Given the description of an element on the screen output the (x, y) to click on. 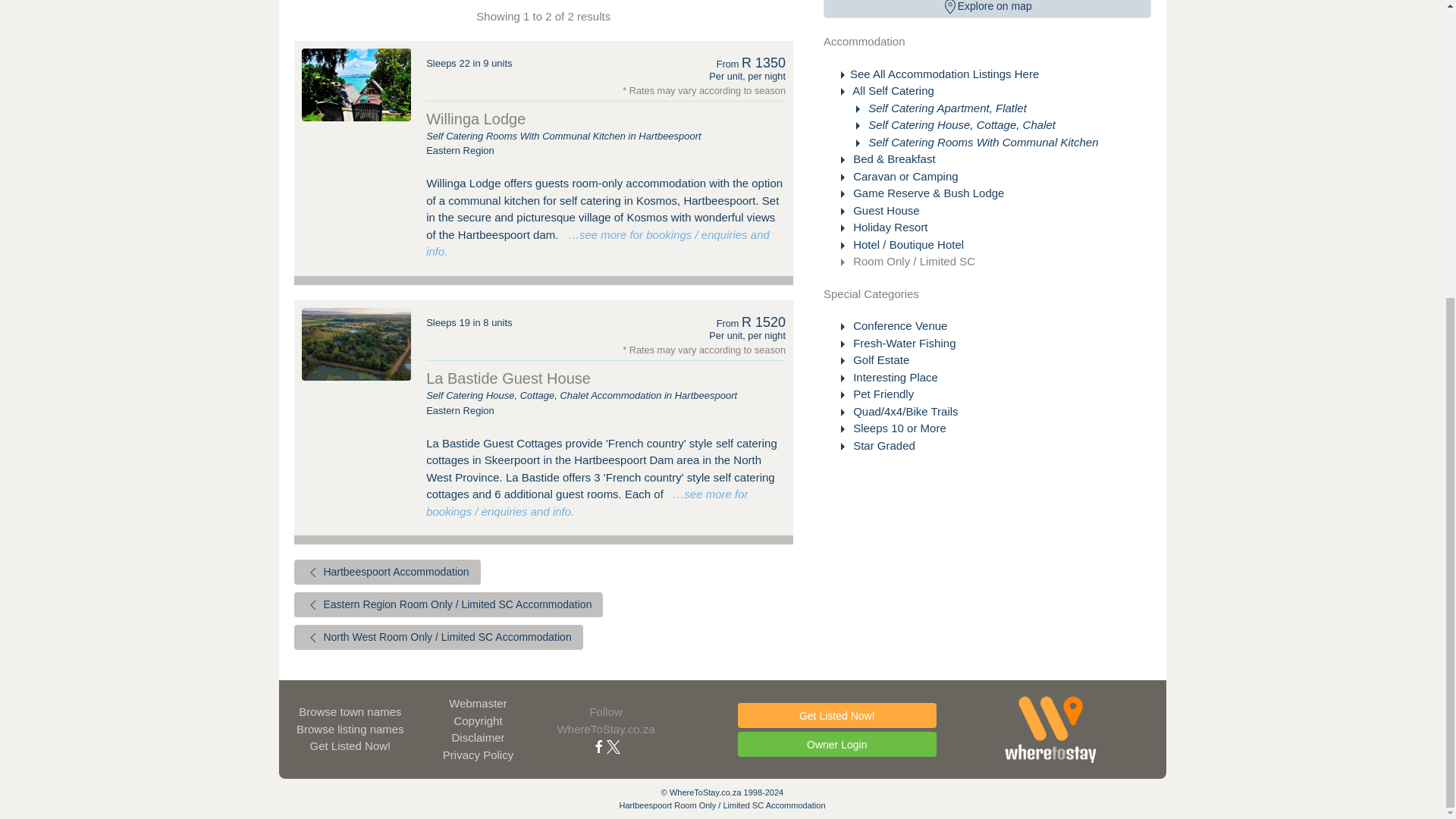
Guest House (885, 210)
Willinga Lodge (475, 118)
Star Graded (882, 445)
Self Catering Rooms With Communal Kitchen (981, 141)
Holiday Resort (889, 226)
Pet Friendly (882, 393)
Golf Estate (879, 359)
WhereToStay.co.za (1050, 729)
Interesting Place (893, 377)
All Self Catering (892, 90)
Explore on map (987, 9)
La Bastide Guest House (356, 343)
Fresh-Water Fishing (902, 342)
Sleeps 10 or More (898, 427)
